Given the description of an element on the screen output the (x, y) to click on. 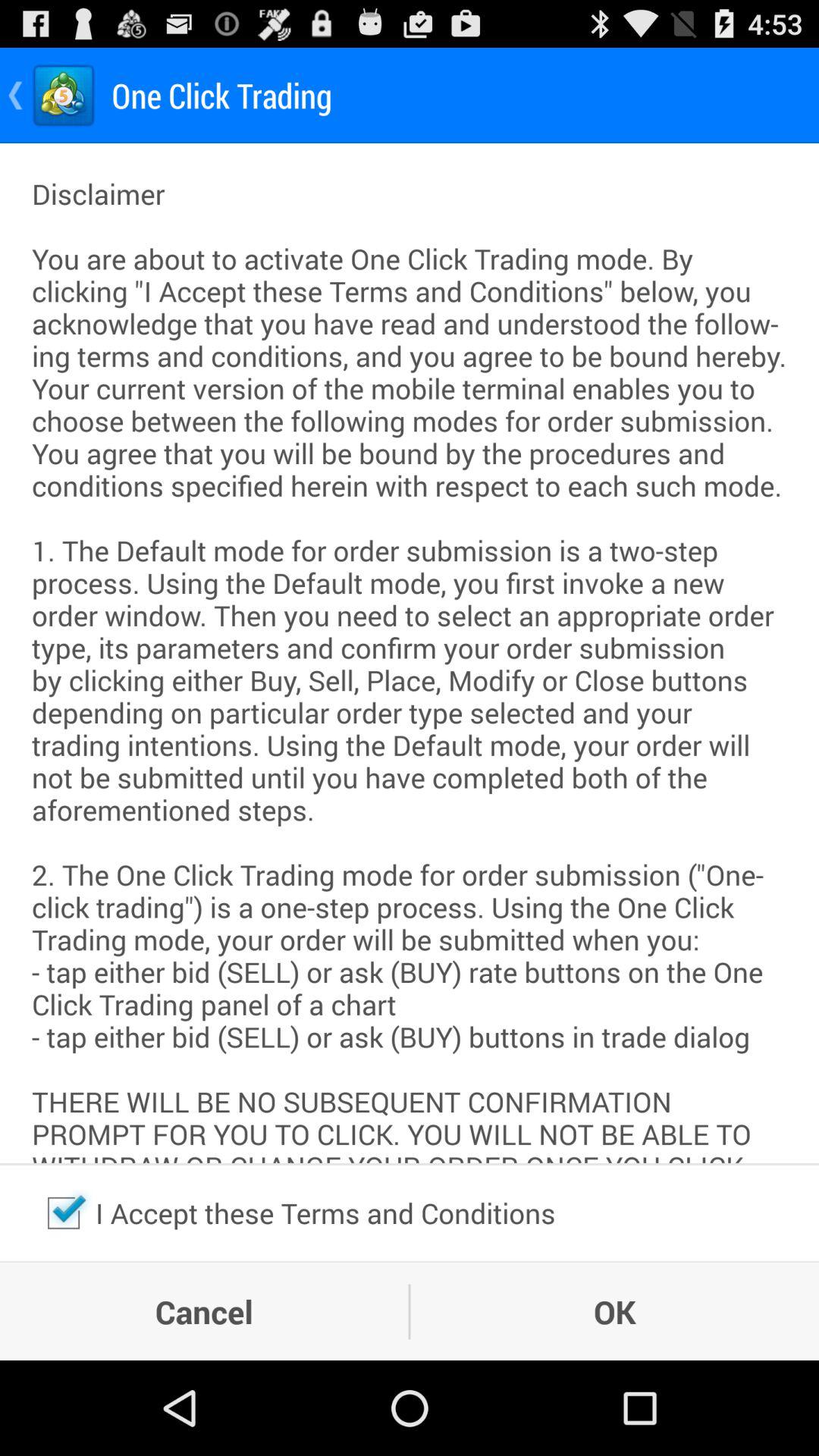
press the item to the left of the i accept these item (63, 1212)
